Given the description of an element on the screen output the (x, y) to click on. 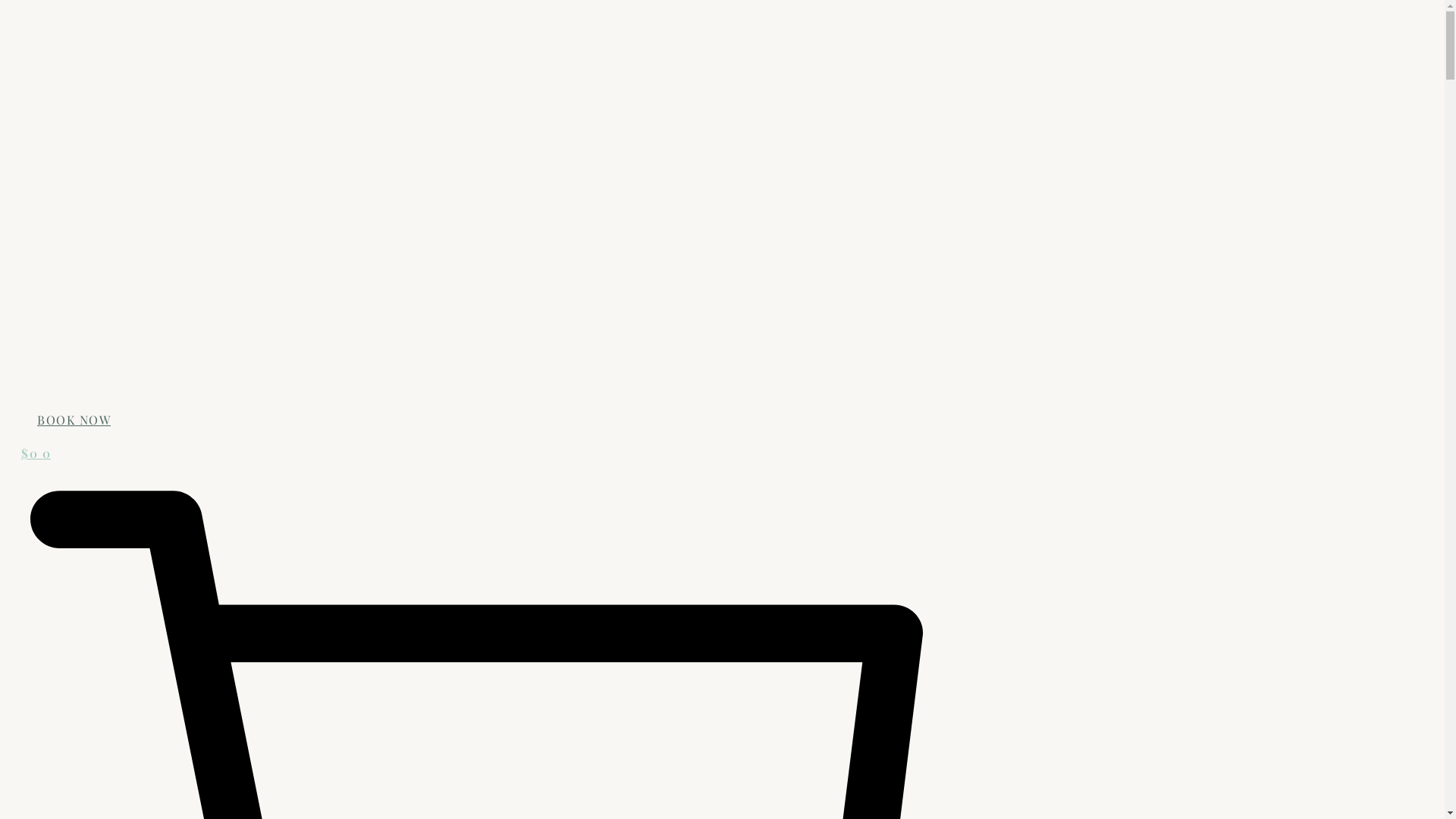
CONTACT Element type: text (53, 307)
BOOK NOW Element type: text (73, 419)
HOST Element type: text (47, 340)
